Given the description of an element on the screen output the (x, y) to click on. 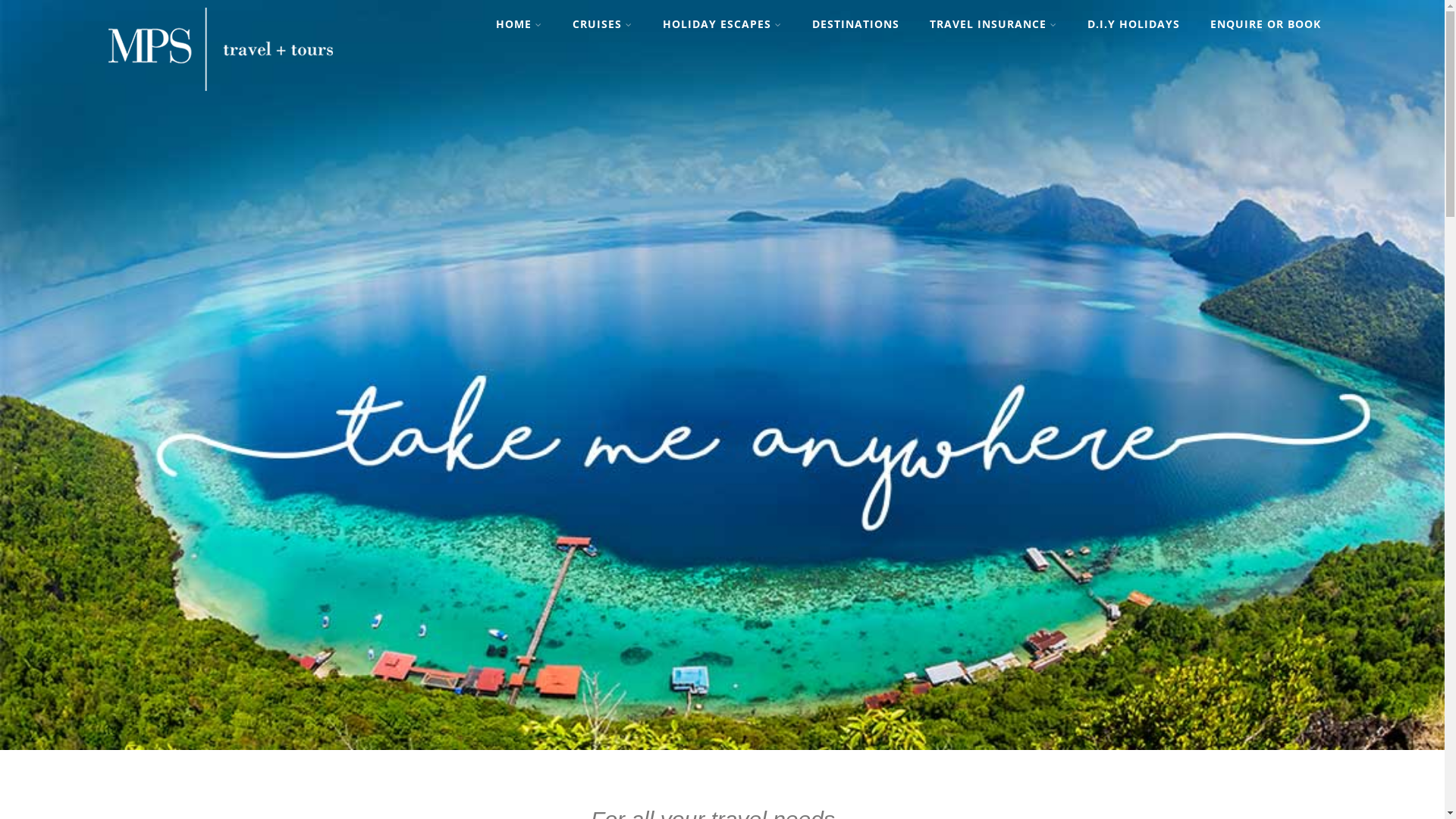
HOME Element type: text (518, 24)
DESTINATIONS Element type: text (855, 23)
ENQUIRE OR BOOK Element type: text (1265, 23)
TRAVEL INSURANCE Element type: text (993, 24)
D.I.Y HOLIDAYS Element type: text (1133, 23)
HOLIDAY ESCAPES Element type: text (722, 24)
MPS Travel + Tours Element type: hover (220, 94)
CRUISES Element type: text (602, 24)
